Given the description of an element on the screen output the (x, y) to click on. 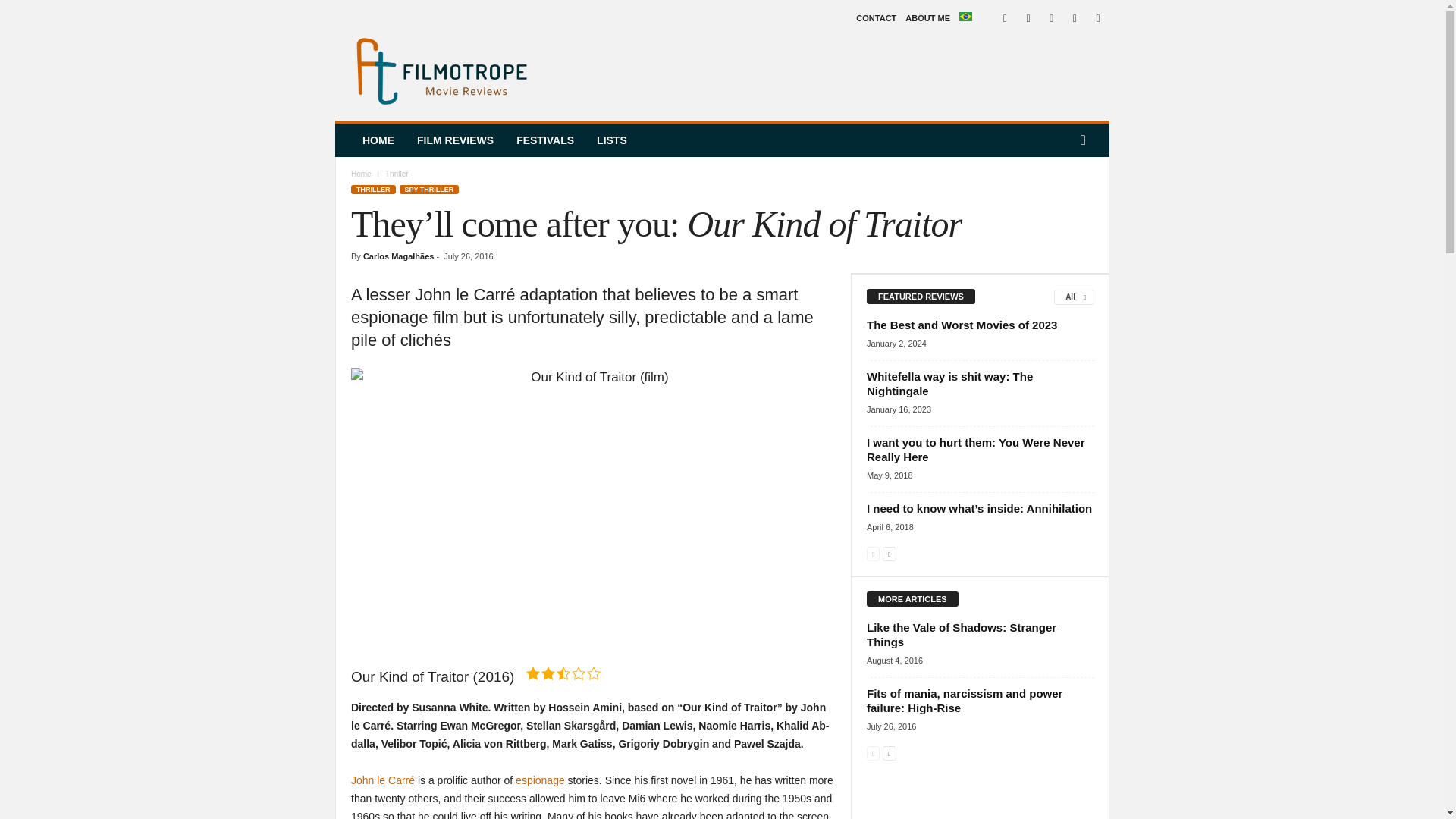
Filmotrope (437, 70)
FESTIVALS (545, 140)
HOME (378, 140)
CONTACT (876, 17)
THRILLER (373, 189)
LISTS (612, 140)
FILM REVIEWS (455, 140)
ABOUT ME (927, 17)
Home (360, 173)
Contact (876, 17)
